Given the description of an element on the screen output the (x, y) to click on. 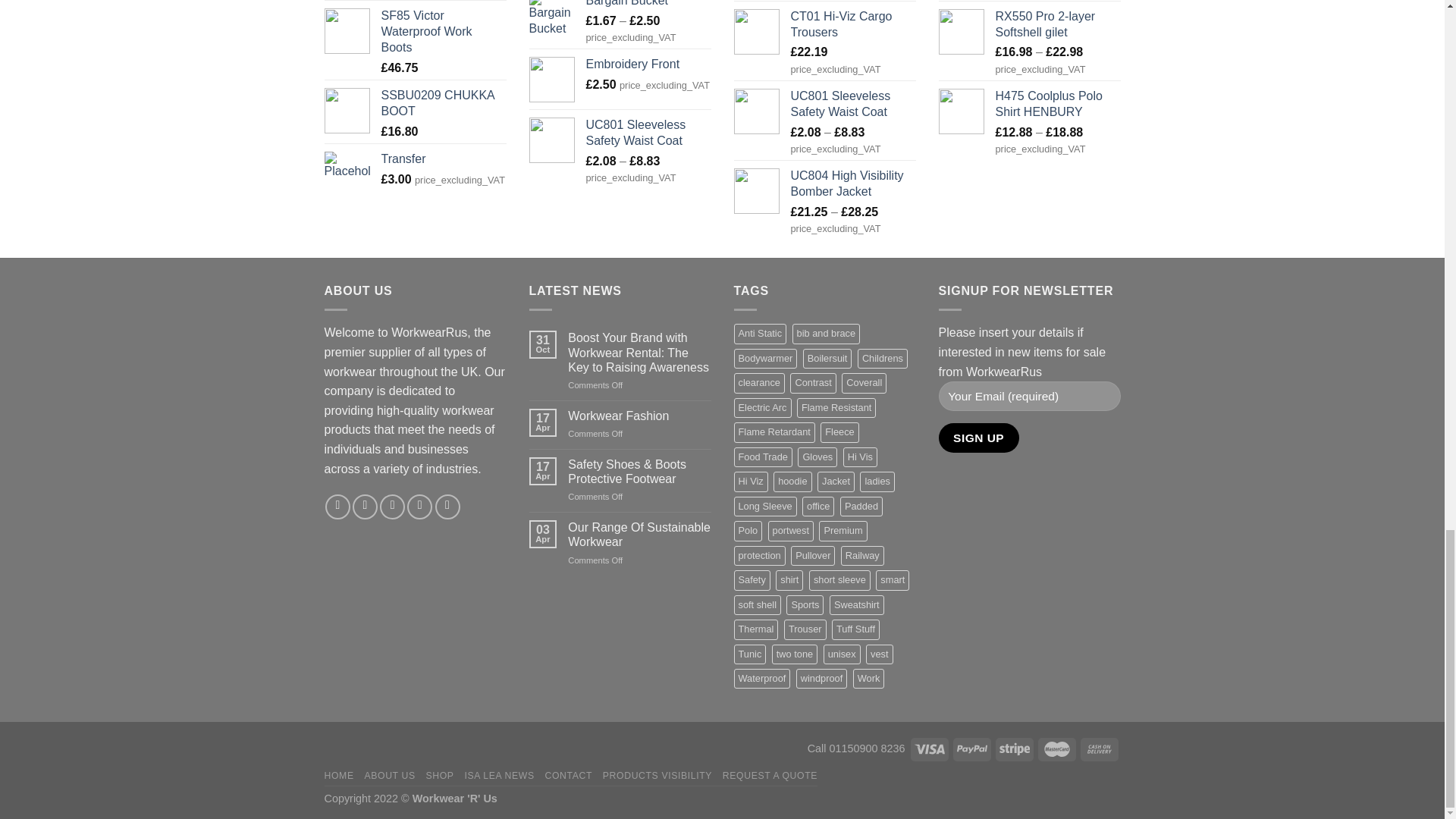
Follow on Facebook (337, 506)
Workwear Fashion (638, 415)
Follow on Instagram (364, 506)
Follow on Twitter (392, 506)
Send us an email (419, 506)
Follow on Pinterest (447, 506)
Sign Up (979, 437)
